Given the description of an element on the screen output the (x, y) to click on. 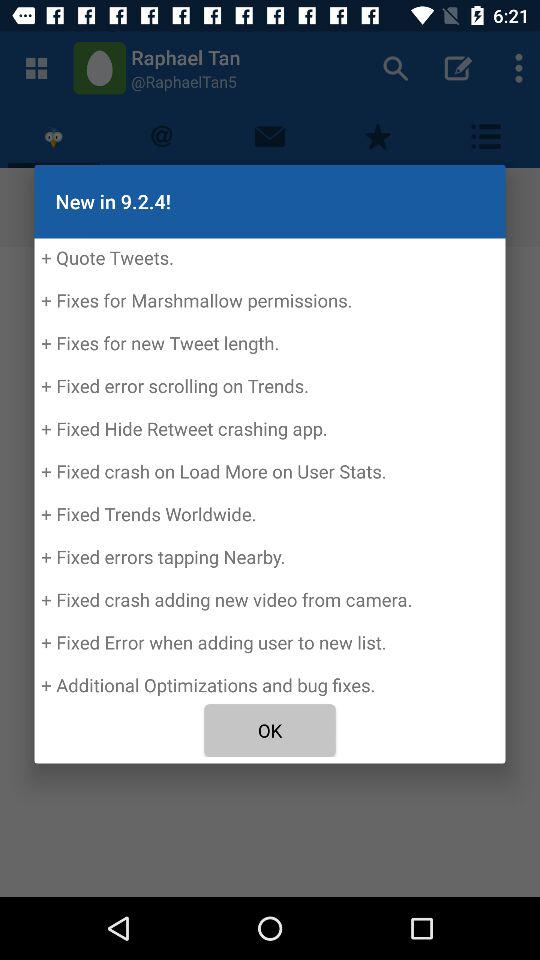
turn on ok item (269, 730)
